Given the description of an element on the screen output the (x, y) to click on. 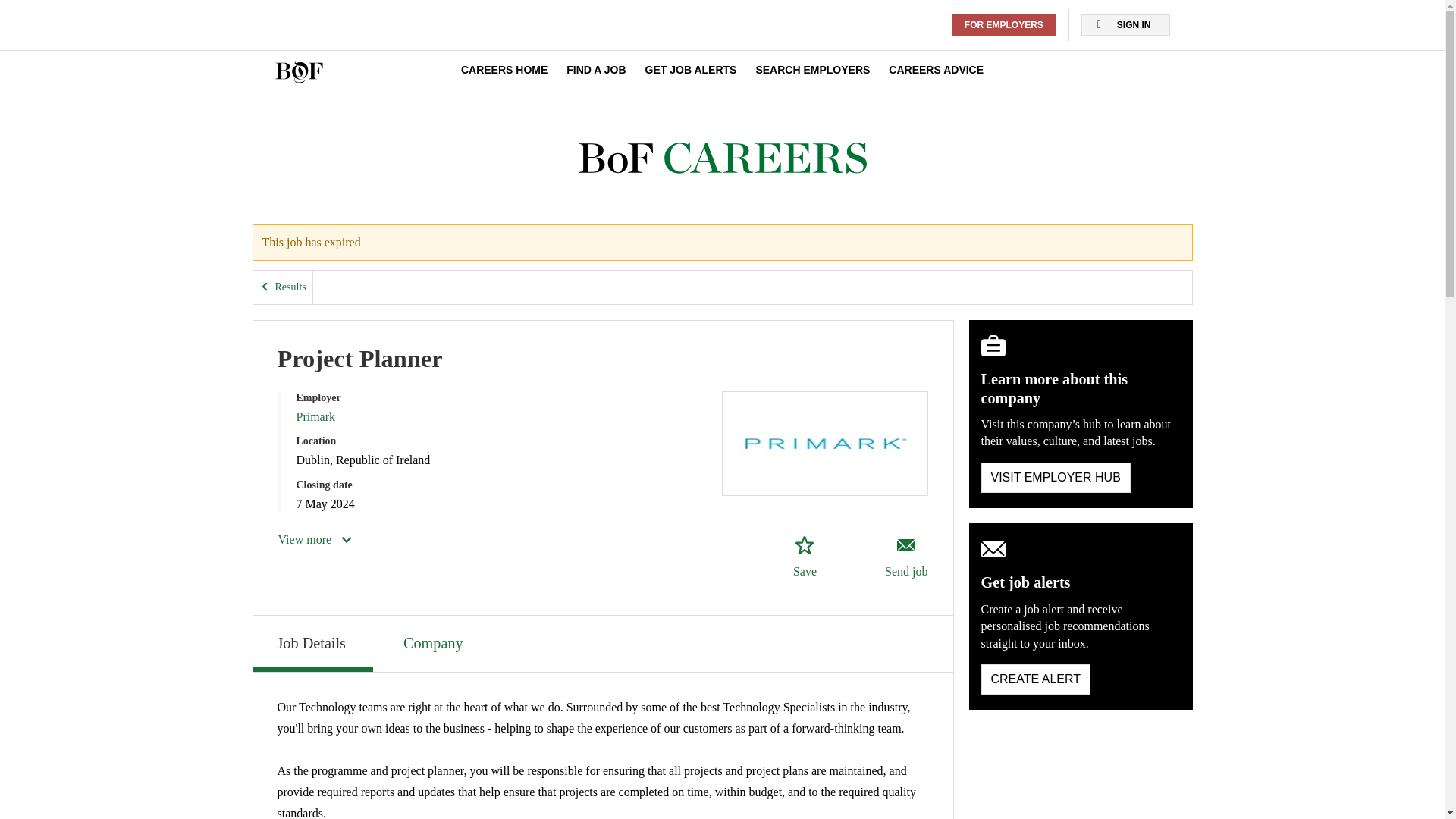
BoF Careers (722, 158)
Results (283, 287)
CAREERS ADVICE (936, 69)
GET JOB ALERTS (690, 69)
VISIT EMPLOYER HUB (1056, 477)
View more (315, 539)
CREATE ALERT (1035, 679)
Job Details (312, 643)
Company (434, 641)
Primark (314, 416)
SEARCH EMPLOYERS (812, 69)
FOR EMPLOYERS (1004, 25)
FIND A JOB (596, 69)
SIGN IN (1125, 25)
CAREERS HOME (504, 69)
